Given the description of an element on the screen output the (x, y) to click on. 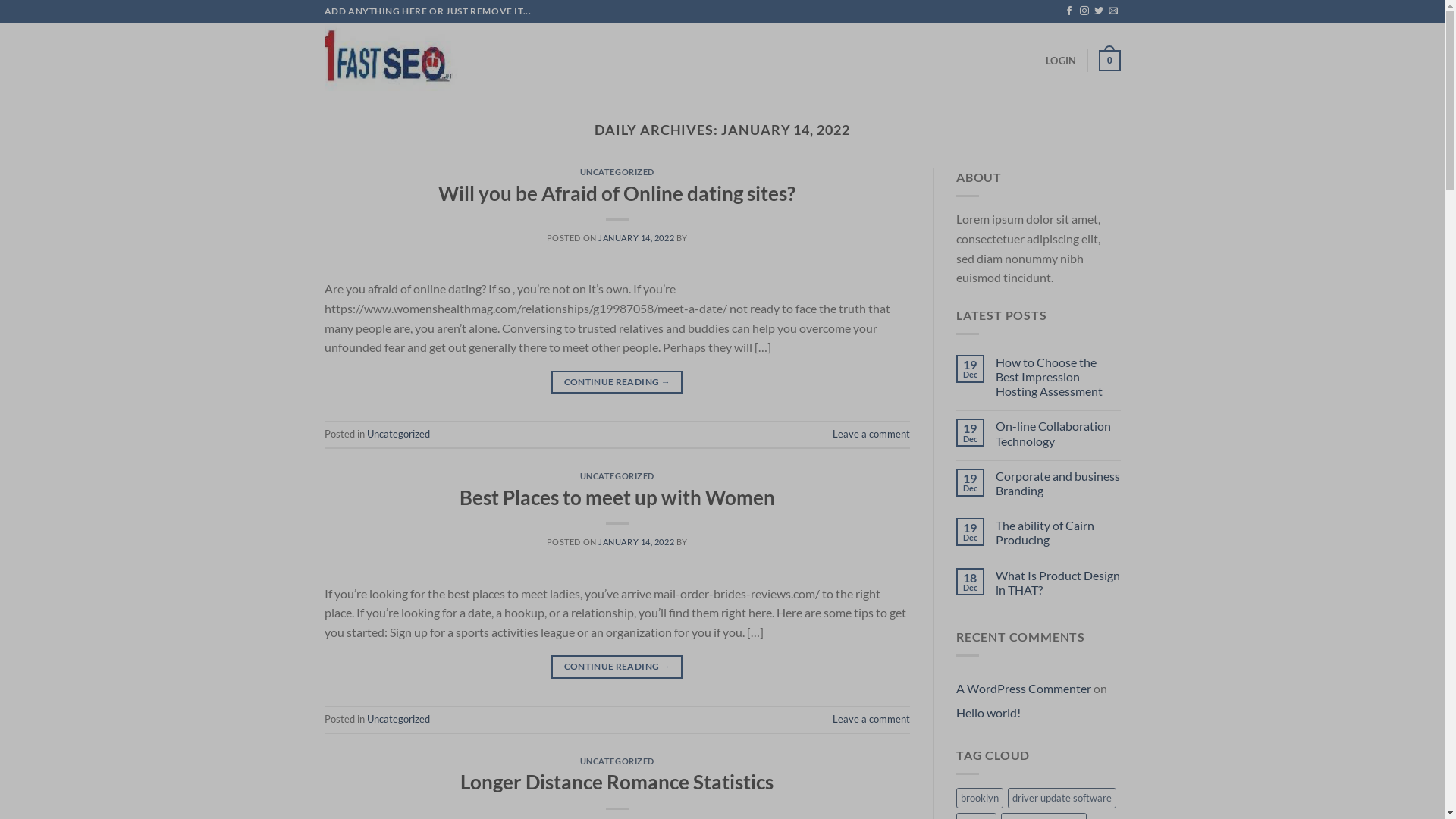
LOGIN Element type: text (1060, 60)
Corporate and business Branding Element type: text (1057, 482)
JANUARY 14, 2022 Element type: text (636, 541)
brooklyn Element type: text (979, 797)
0 Element type: text (1109, 60)
JANUARY 14, 2022 Element type: text (636, 237)
UNCATEGORIZED Element type: text (617, 760)
On-line Collaboration Technology Element type: text (1057, 432)
Uncategorized Element type: text (398, 433)
Best Places to meet up with Women Element type: text (617, 497)
A WordPress Commenter Element type: text (1023, 687)
Leave a comment Element type: text (871, 718)
1 Fast SEO - Just another WordPress site Element type: hover (400, 60)
Leave a comment Element type: text (871, 433)
Longer Distance Romance Statistics Element type: text (616, 781)
What Is Product Design in THAT? Element type: text (1057, 581)
driver update software Element type: text (1061, 797)
UNCATEGORIZED Element type: text (617, 171)
Hello world! Element type: text (988, 712)
The ability of Cairn Producing Element type: text (1057, 531)
UNCATEGORIZED Element type: text (617, 475)
Will you be Afraid of Online dating sites? Element type: text (616, 193)
How to Choose the Best Impression Hosting Assessment Element type: text (1057, 376)
Uncategorized Element type: text (398, 718)
